Given the description of an element on the screen output the (x, y) to click on. 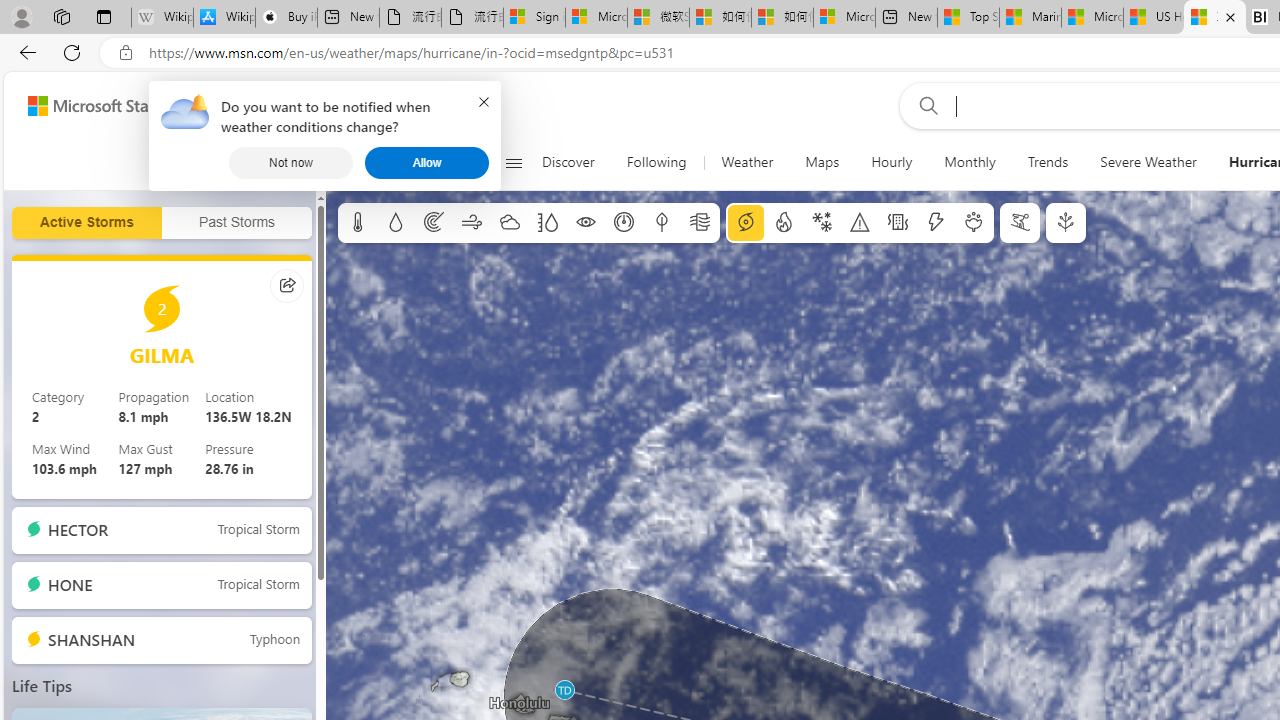
Humidity (547, 223)
Pollen (974, 223)
Temperature (358, 223)
Trends (1048, 162)
Severe Weather (1147, 162)
Clouds (509, 223)
